Given the description of an element on the screen output the (x, y) to click on. 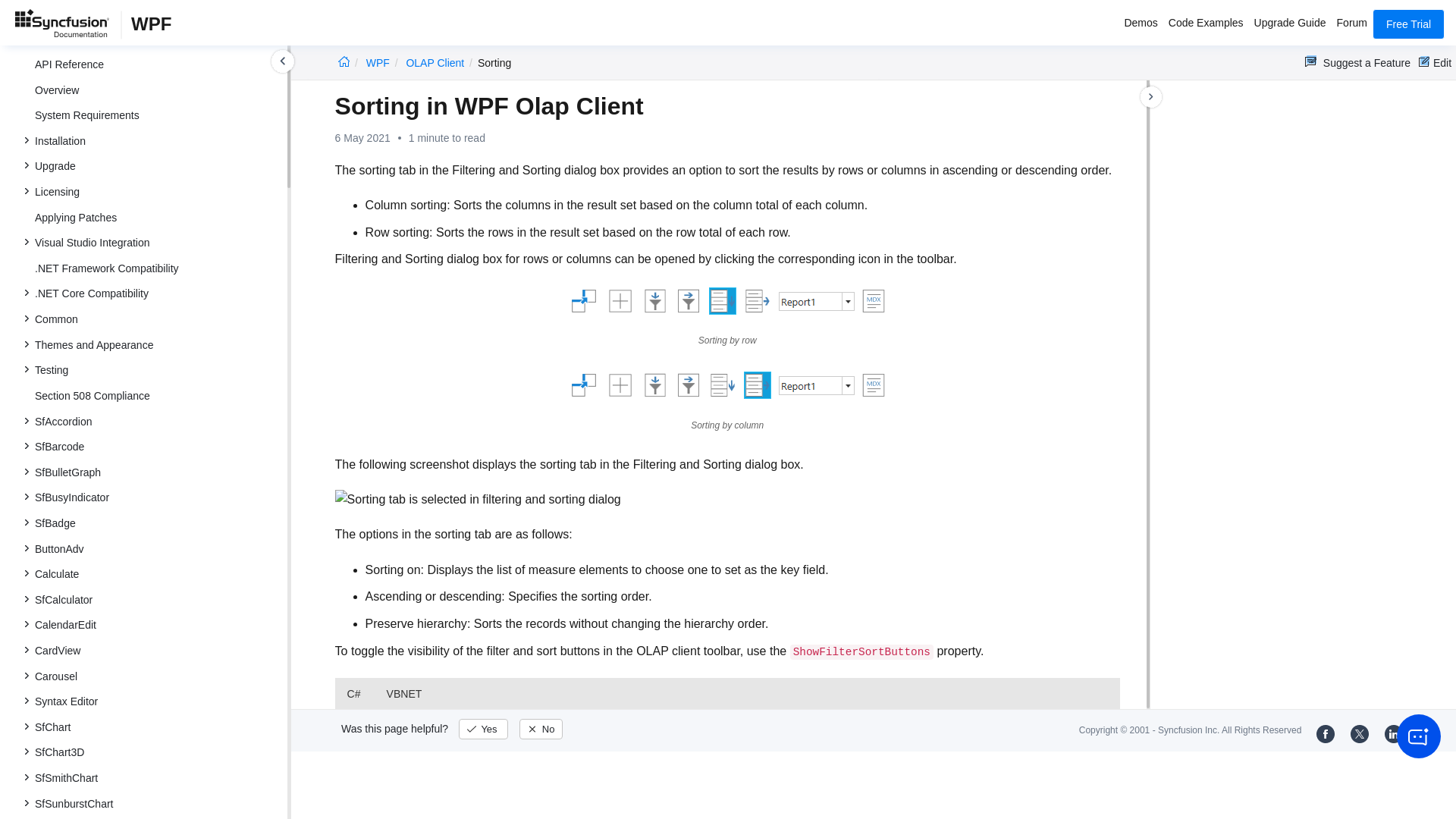
Free Trial (1408, 24)
Suggest a Feature (1357, 62)
Edit (1434, 62)
Demos (1139, 24)
Edit (1434, 62)
Code Examples (1206, 24)
OLAP Client (435, 62)
Overview (155, 89)
Forum (1352, 24)
API Reference (155, 64)
